Given the description of an element on the screen output the (x, y) to click on. 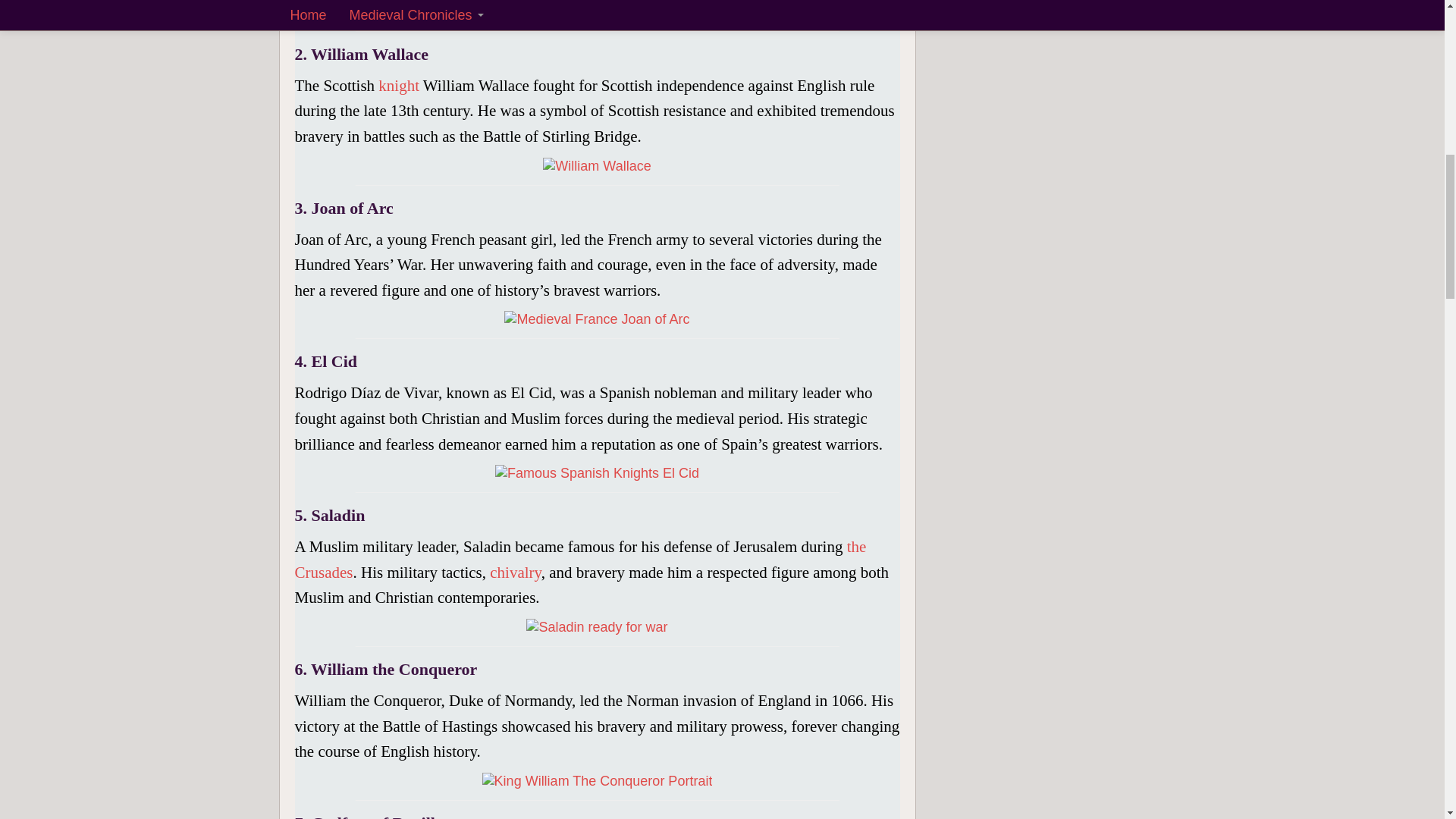
the Crusades (580, 559)
Top 10 Bravest Warriors of Medieval Times 3 (596, 166)
knight (398, 85)
Top 10 Bravest Warriors of Medieval Times 4 (595, 319)
Top 10 Bravest Warriors of Medieval Times 6 (595, 627)
chivalry (514, 572)
The Crusades (580, 559)
Top 10 Bravest Warriors of Medieval Times 2 (596, 12)
Top 10 Bravest Warriors of Medieval Times 5 (596, 473)
Medieval Knights  (398, 85)
